Given the description of an element on the screen output the (x, y) to click on. 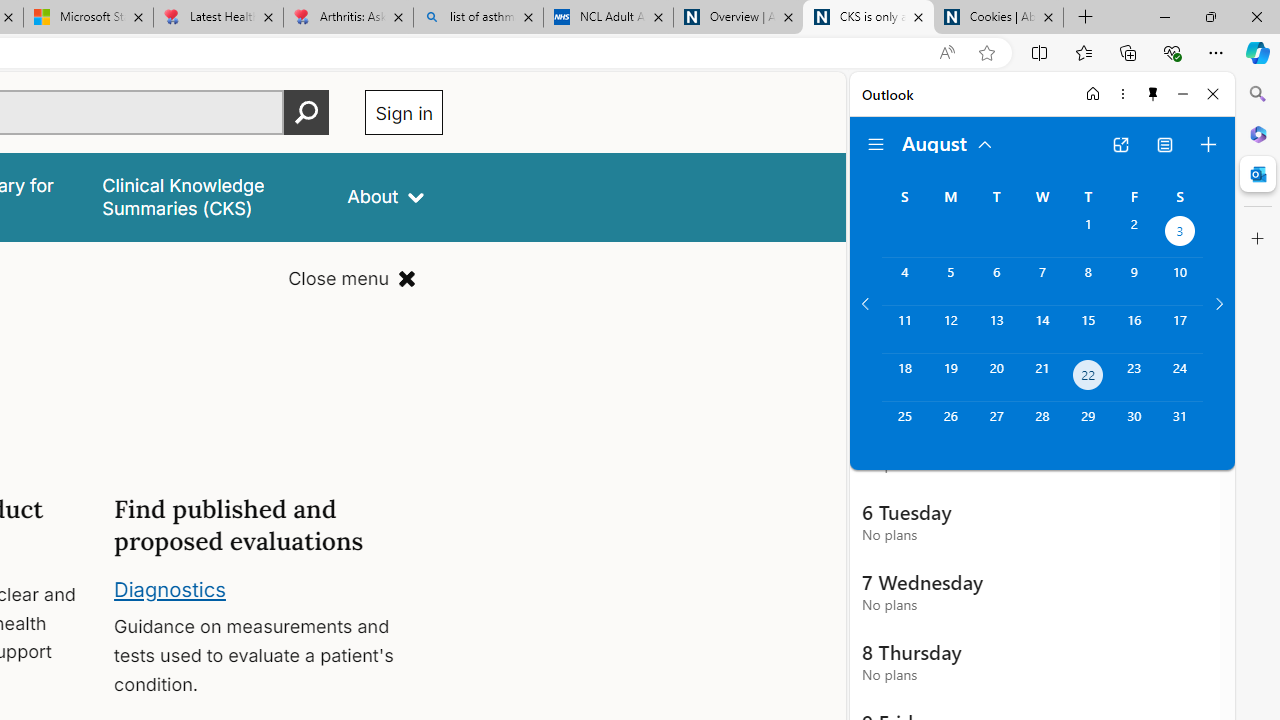
Friday, August 2, 2024.  (1134, 233)
Cookies | About | NICE (998, 17)
Friday, August 23, 2024.  (1134, 377)
Thursday, August 22, 2024. Today.  (1088, 377)
Friday, August 16, 2024.  (1134, 329)
Saturday, August 10, 2024.  (1180, 281)
Wednesday, August 14, 2024.  (1042, 329)
Thursday, August 8, 2024.  (1088, 281)
Wednesday, August 21, 2024.  (1042, 377)
